Given the description of an element on the screen output the (x, y) to click on. 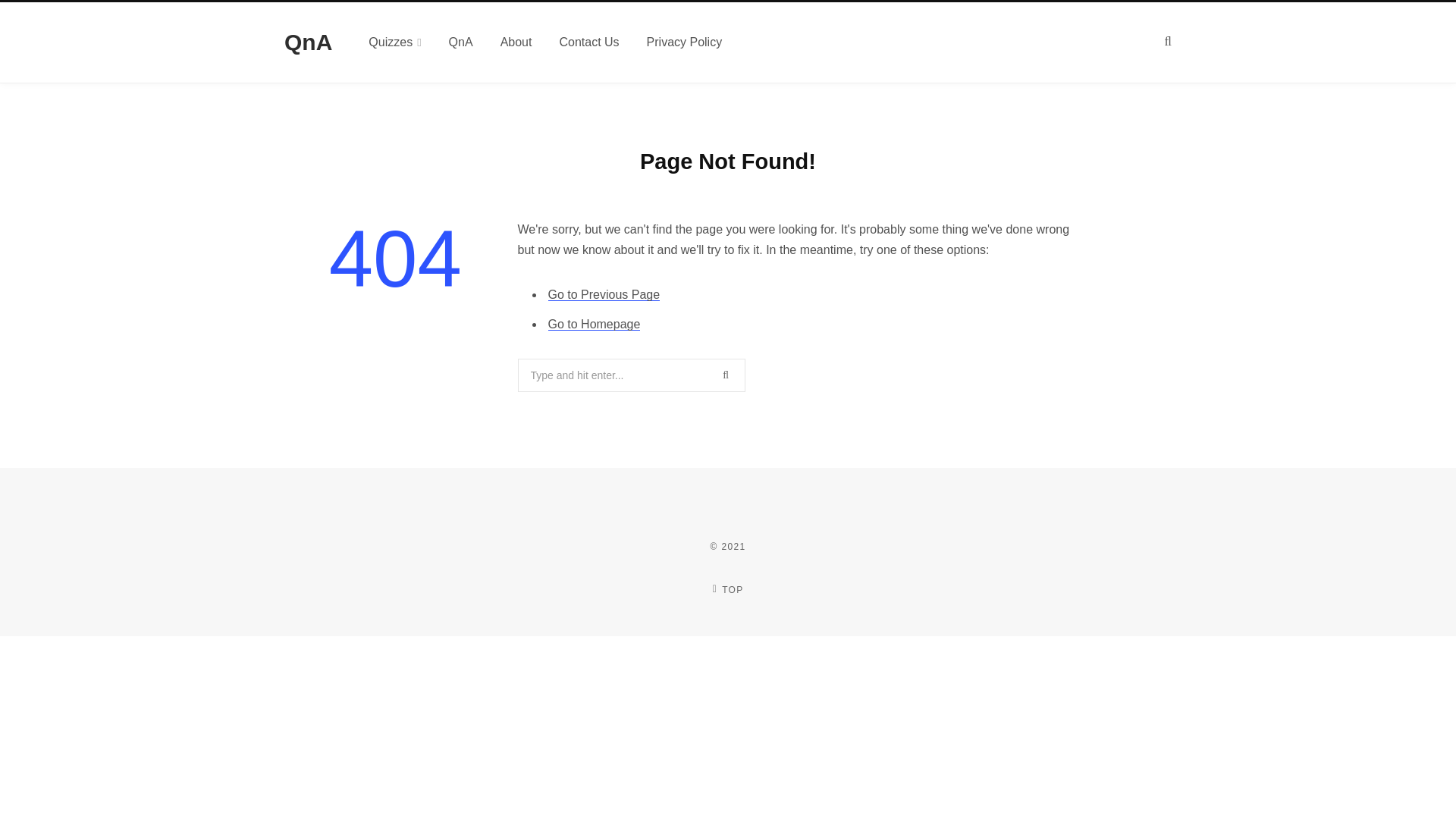
Privacy Policy (684, 41)
Go to Previous Page (603, 294)
TOP (727, 589)
About (516, 41)
Contact Us (587, 41)
Quizzes (394, 41)
QnA (307, 42)
Search for: (630, 375)
QnA (460, 41)
QnA (307, 42)
Go to Homepage (593, 323)
